Given the description of an element on the screen output the (x, y) to click on. 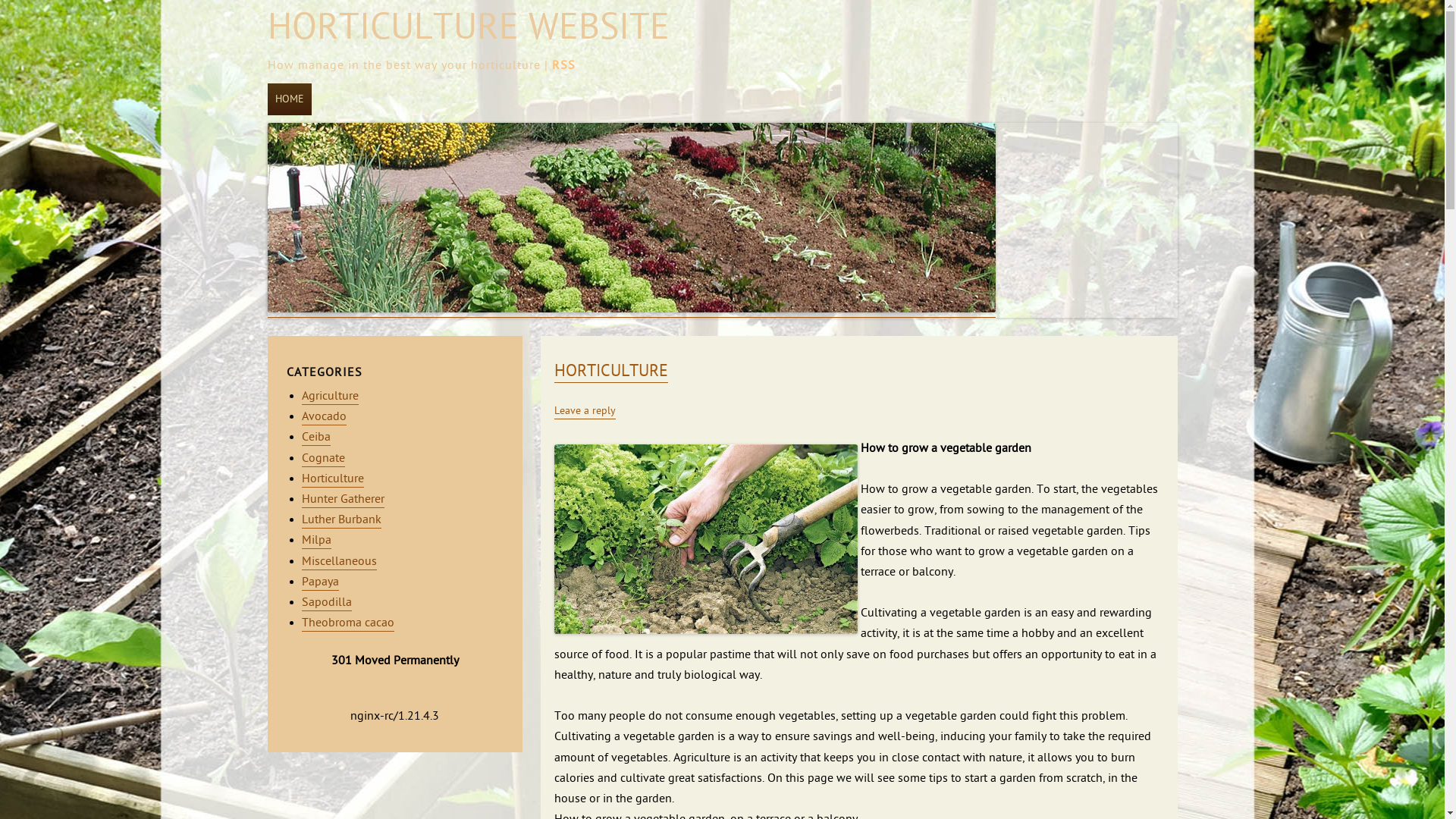
HORTICULTURE Element type: text (610, 371)
Miscellaneous Element type: text (338, 561)
Hunter Gatherer Element type: text (342, 500)
Agriculture Element type: text (329, 396)
HORTICULTURE WEBSITE Element type: text (467, 28)
Luther Burbank Element type: text (341, 520)
Cognate Element type: text (323, 459)
Sapodilla Element type: text (326, 603)
RSS Element type: text (563, 65)
Milpa Element type: text (316, 541)
Horticulture Element type: text (332, 479)
Skip to content Element type: text (318, 85)
Ceiba Element type: text (315, 437)
Leave a reply Element type: text (584, 411)
HOME Element type: text (288, 99)
Theobroma cacao Element type: text (347, 623)
Avocado Element type: text (323, 417)
Papaya Element type: text (319, 582)
